Given the description of an element on the screen output the (x, y) to click on. 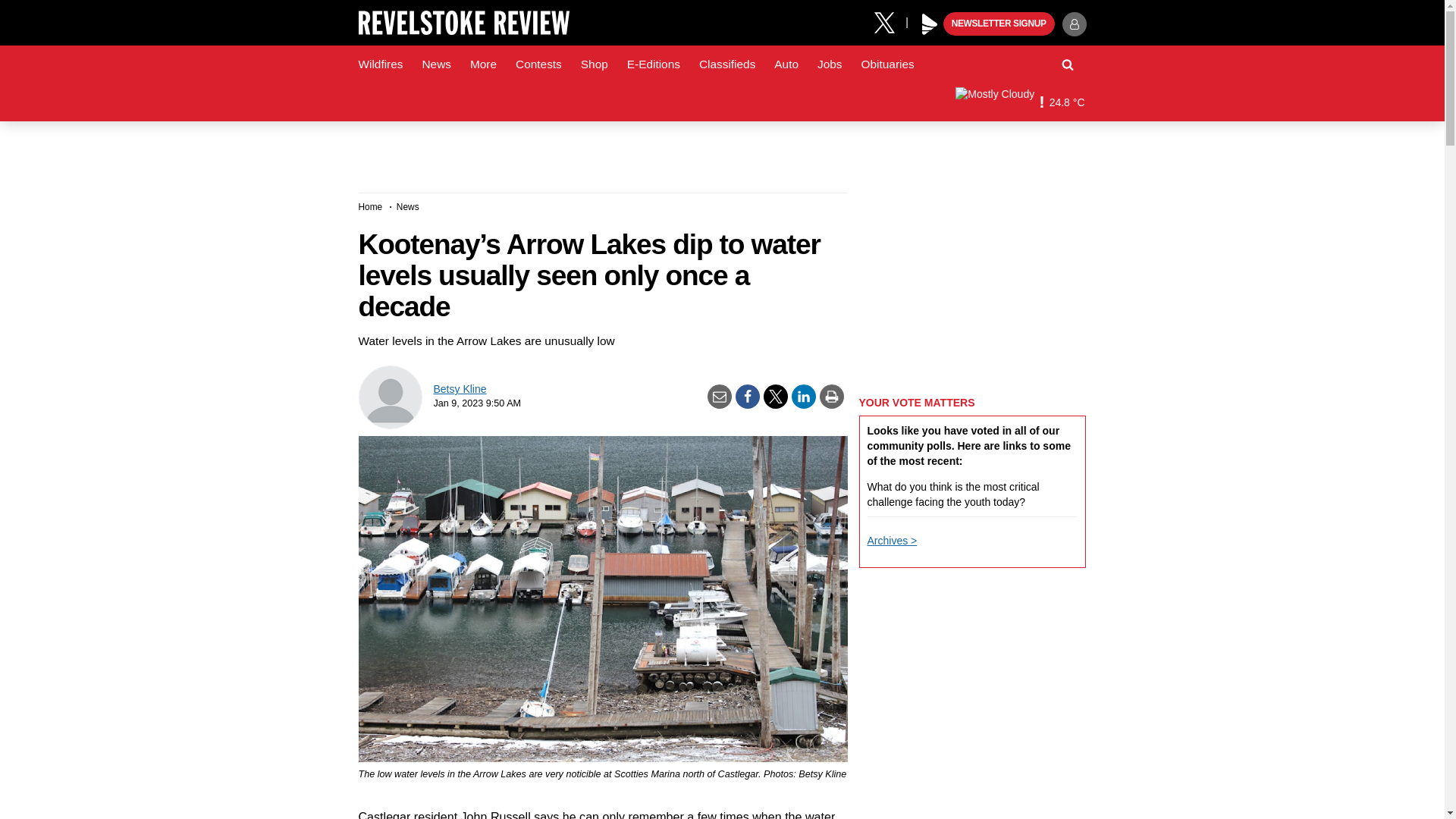
News (435, 64)
NEWSLETTER SIGNUP (998, 24)
Wildfires (380, 64)
Black Press Media (929, 24)
X (889, 21)
Play (929, 24)
